Given the description of an element on the screen output the (x, y) to click on. 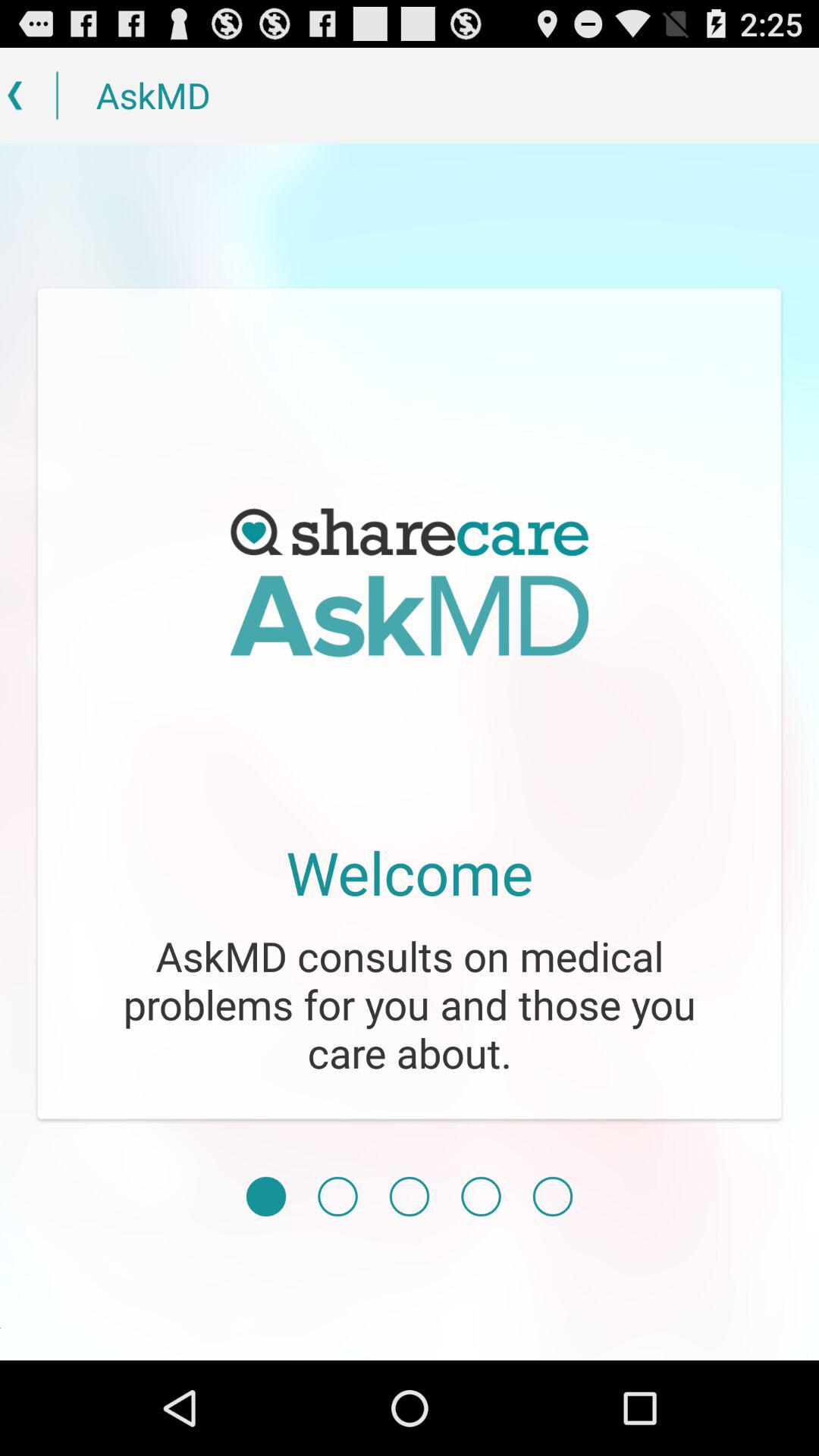
turn off icon below askmd consults on icon (552, 1196)
